Given the description of an element on the screen output the (x, y) to click on. 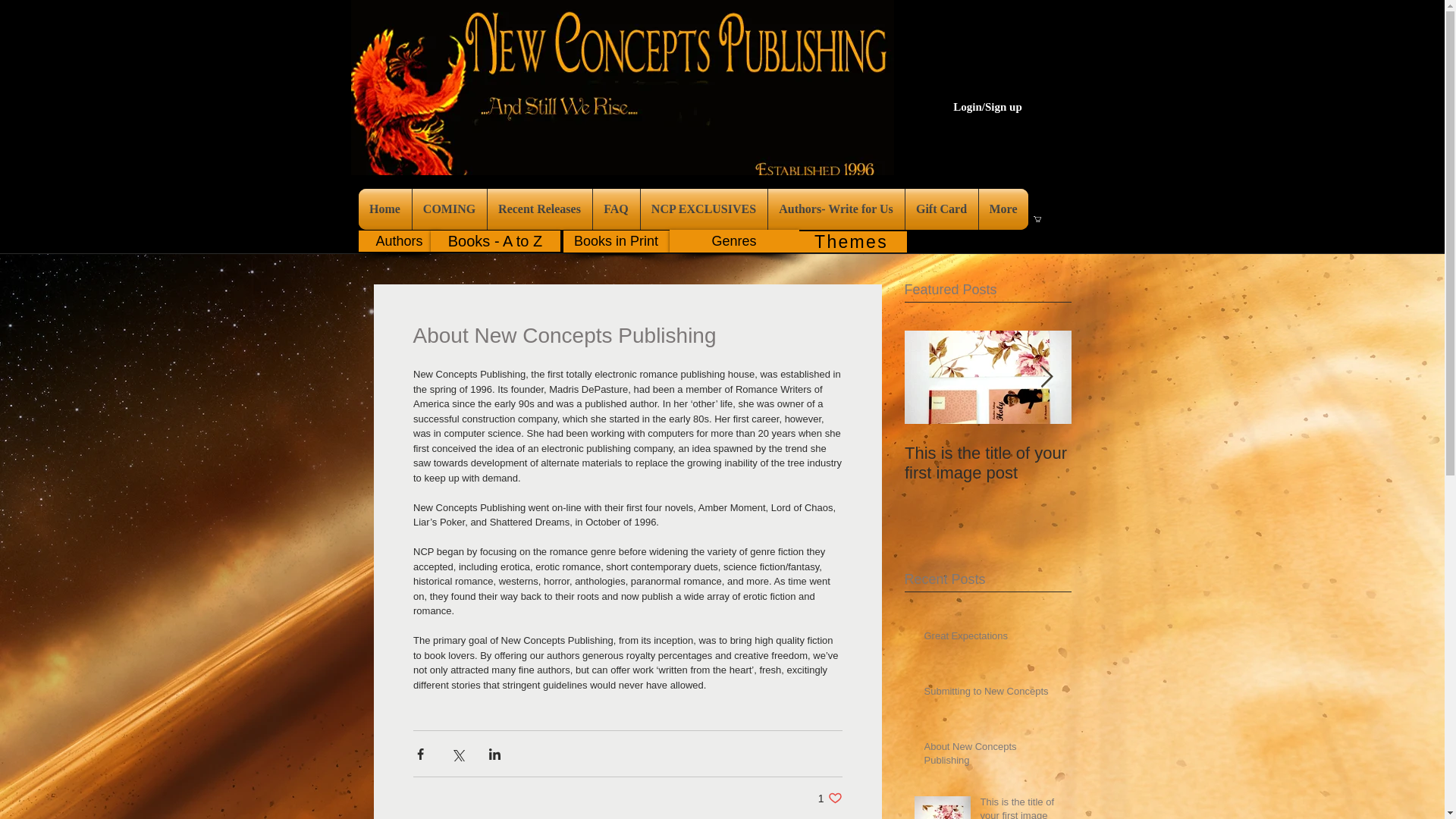
Home (384, 209)
COMING (449, 209)
NewHeader.jpg (621, 87)
NCP EXCLUSIVES (703, 209)
Authors- Write for Us (835, 209)
FAQ (616, 209)
Gift Card (941, 209)
Recent Releases (538, 209)
